Given the description of an element on the screen output the (x, y) to click on. 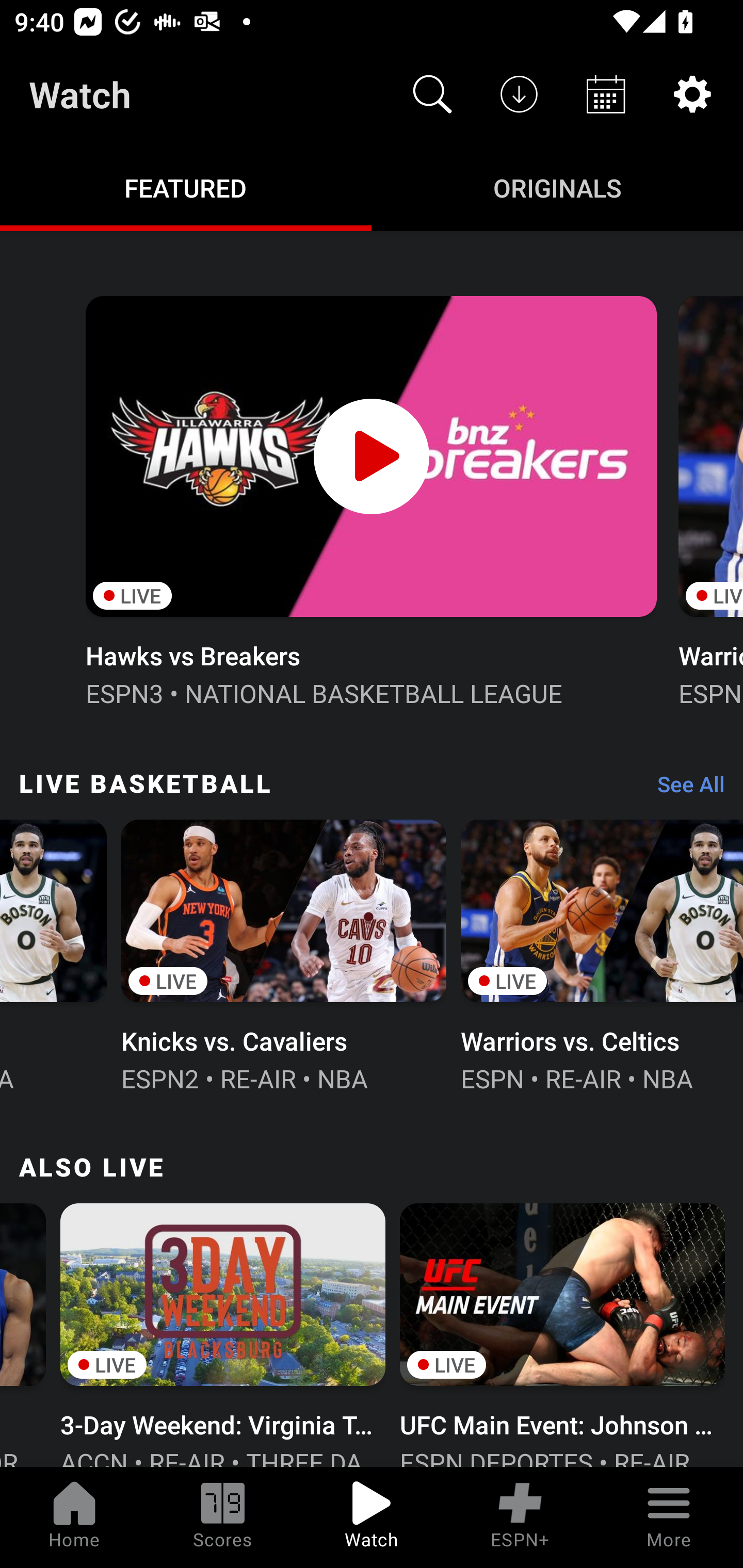
Search (432, 93)
Downloads (518, 93)
Schedule (605, 93)
Settings (692, 93)
Originals ORIGINALS (557, 187)
See All (683, 788)
LIVE Knicks vs. Cavaliers ESPN2 • RE-AIR • NBA (283, 954)
LIVE Warriors vs. Celtics ESPN • RE-AIR • NBA (601, 954)
Home (74, 1517)
Scores (222, 1517)
ESPN+ (519, 1517)
More (668, 1517)
